Given the description of an element on the screen output the (x, y) to click on. 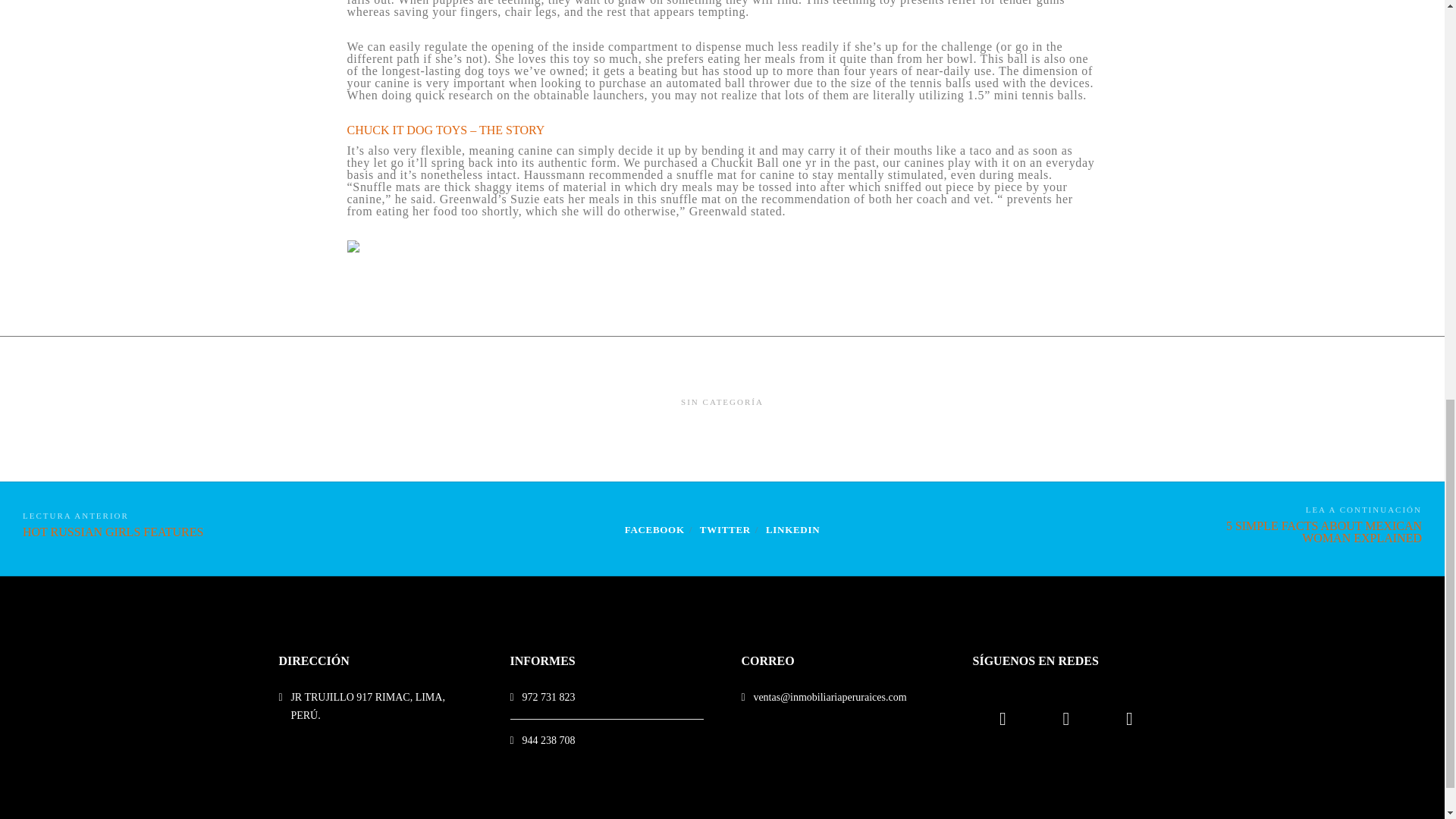
LINKEDIN (792, 529)
FACEBOOK (112, 529)
TWITTER (654, 529)
